Given the description of an element on the screen output the (x, y) to click on. 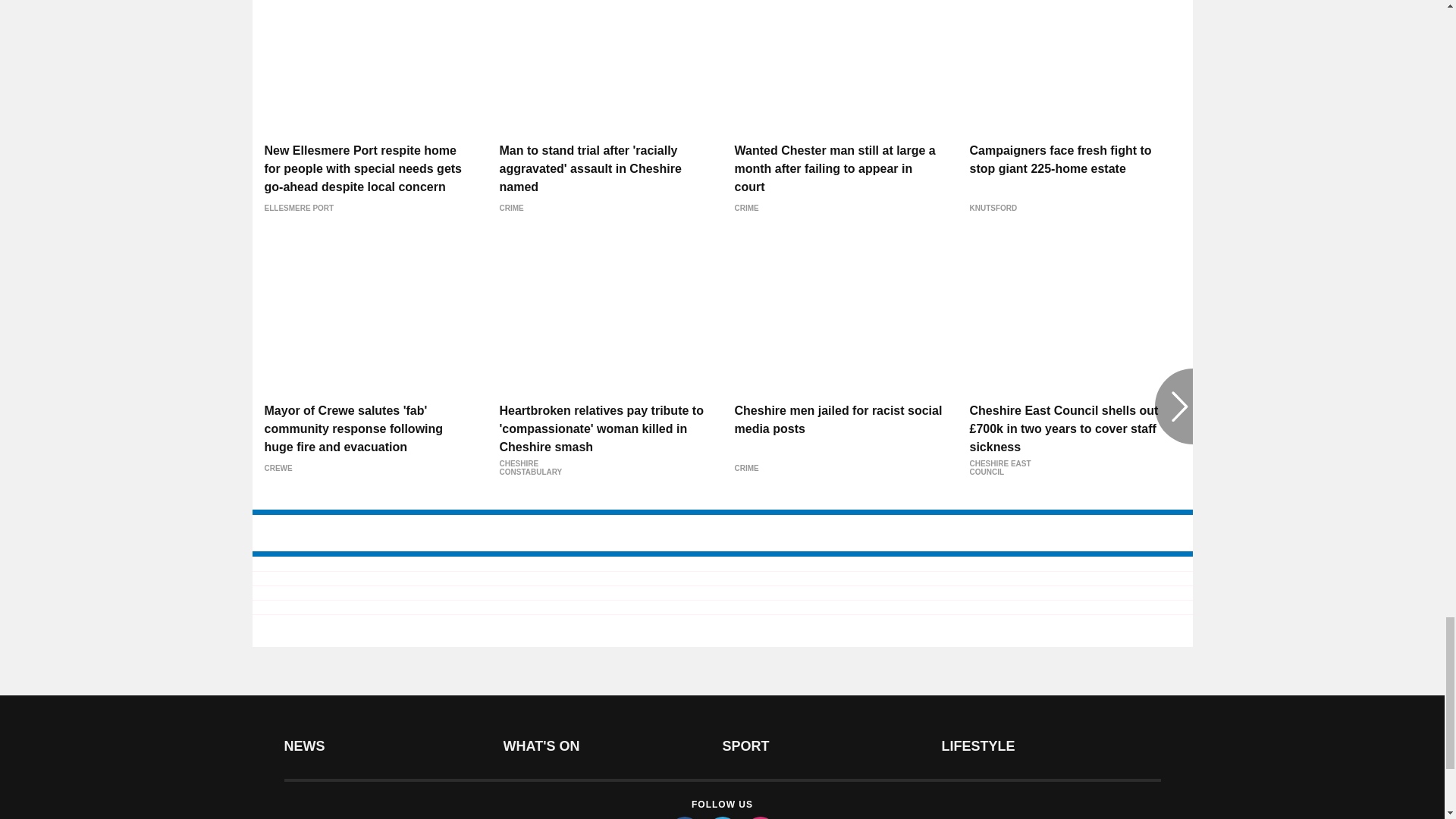
facebook (683, 817)
instagram (759, 817)
twitter (721, 817)
